Given the description of an element on the screen output the (x, y) to click on. 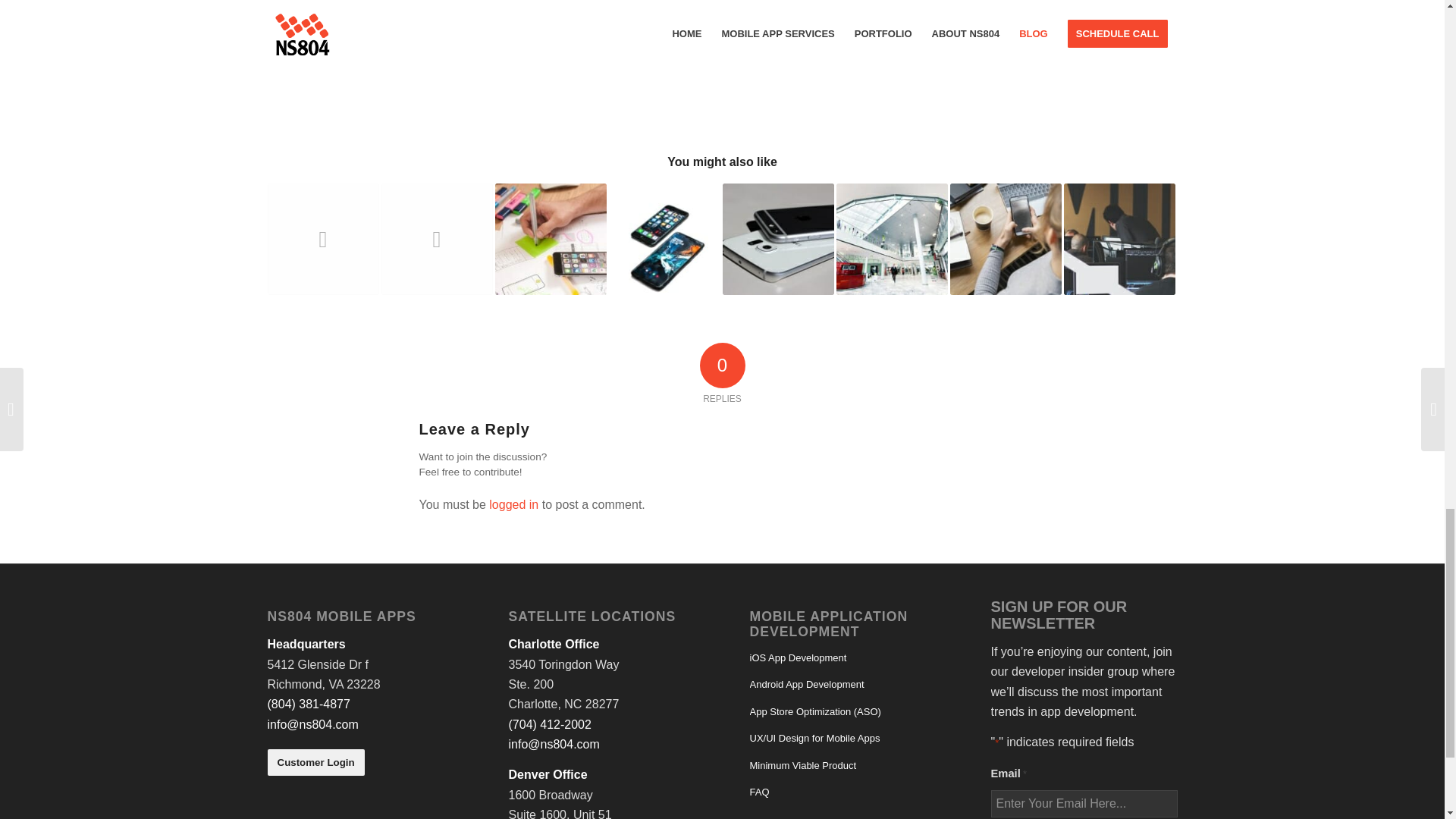
Top 10 Mobile Apps For Doctors (322, 238)
Top Features for Medical Apps Used by Doctors (436, 238)
